Given the description of an element on the screen output the (x, y) to click on. 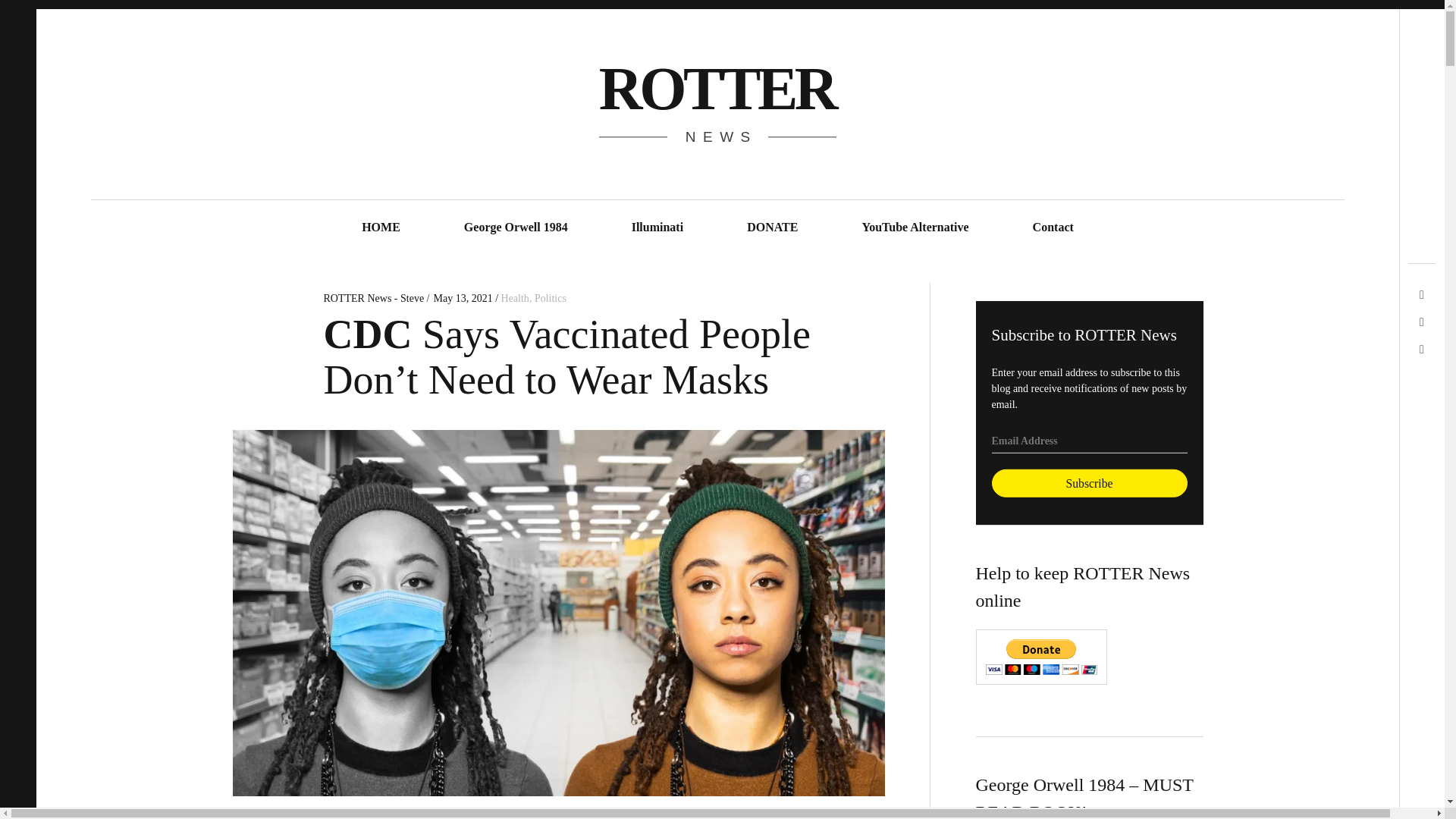
HOME (380, 227)
ROTTER News - Steve (374, 297)
DONATE (772, 227)
Health (514, 297)
YouTube Alternative (914, 227)
Illuminati (657, 227)
George Orwell 1984 (515, 227)
ROTTER (716, 88)
Politics (550, 297)
May 13, 2021 (462, 297)
Contact (1053, 227)
